Given the description of an element on the screen output the (x, y) to click on. 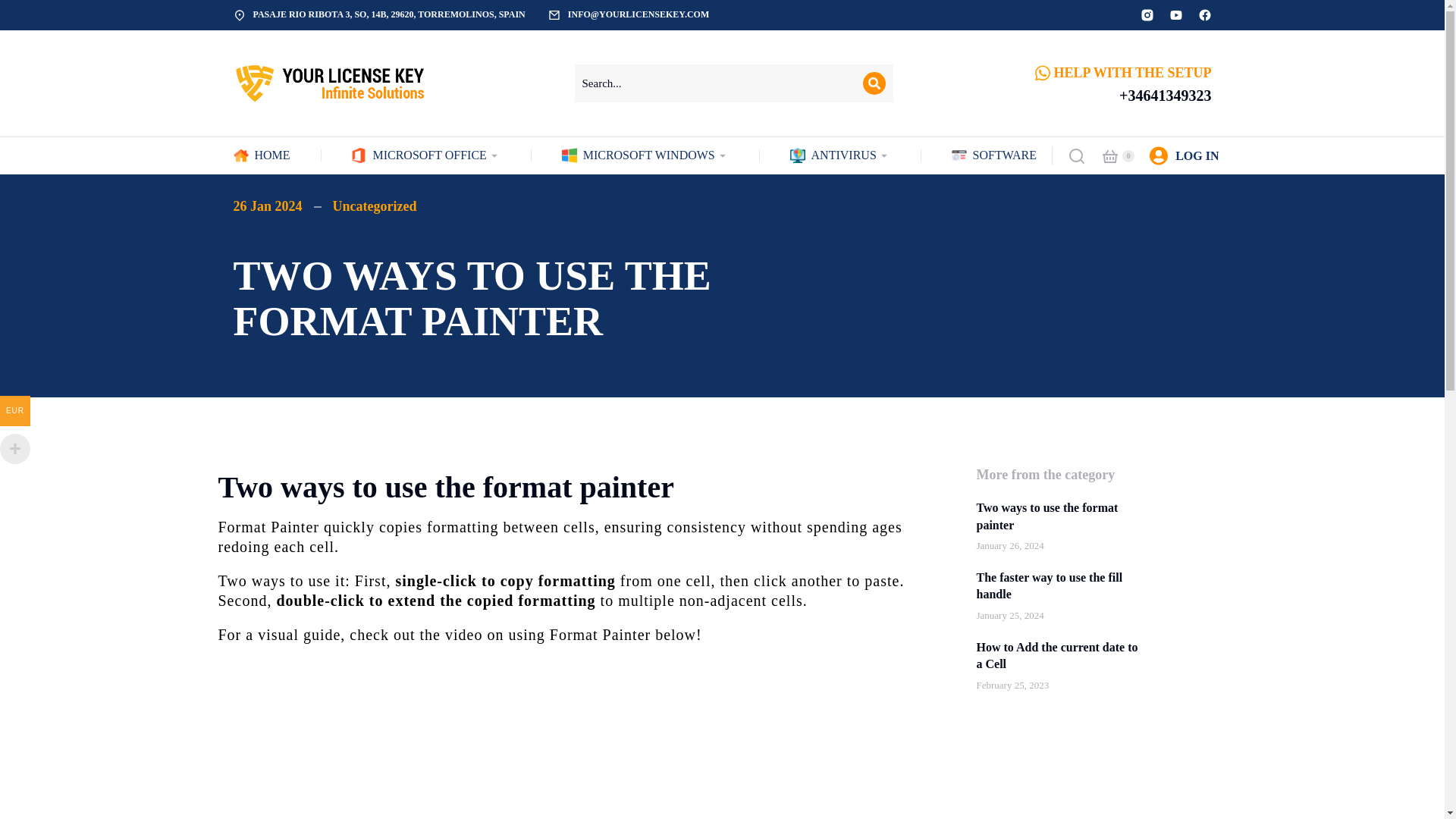
PASAJE RIO RIBOTA 3, SO, 14B, 29620, TORREMOLINOS, SPAIN (389, 14)
4:29 am (1009, 615)
MICROSOFT WINDOWS (645, 155)
2:25 am (1012, 685)
Search (874, 83)
1:25 am (1009, 545)
The faster way to use the fill handle (1059, 586)
HELP WITH THE SETUP (1132, 72)
MICROSOFT OFFICE (424, 155)
HOME (260, 155)
